Given the description of an element on the screen output the (x, y) to click on. 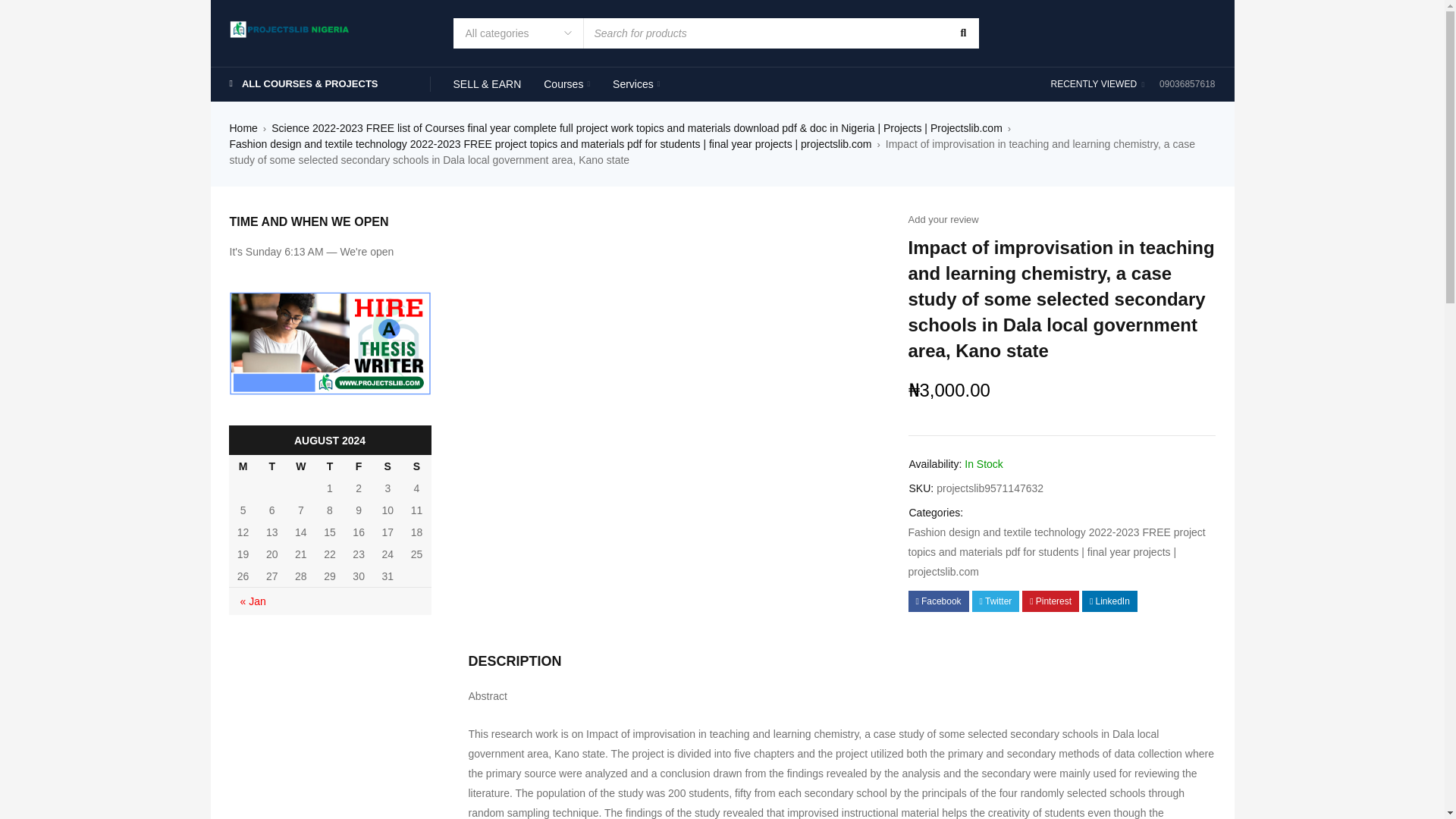
Sunday (415, 465)
Wednesday (300, 465)
Thursday (329, 465)
Friday (357, 465)
Monday (242, 465)
Search (962, 32)
Saturday (386, 465)
Tuesday (271, 465)
PROJECTSLIB (289, 27)
Search (962, 32)
